Given the description of an element on the screen output the (x, y) to click on. 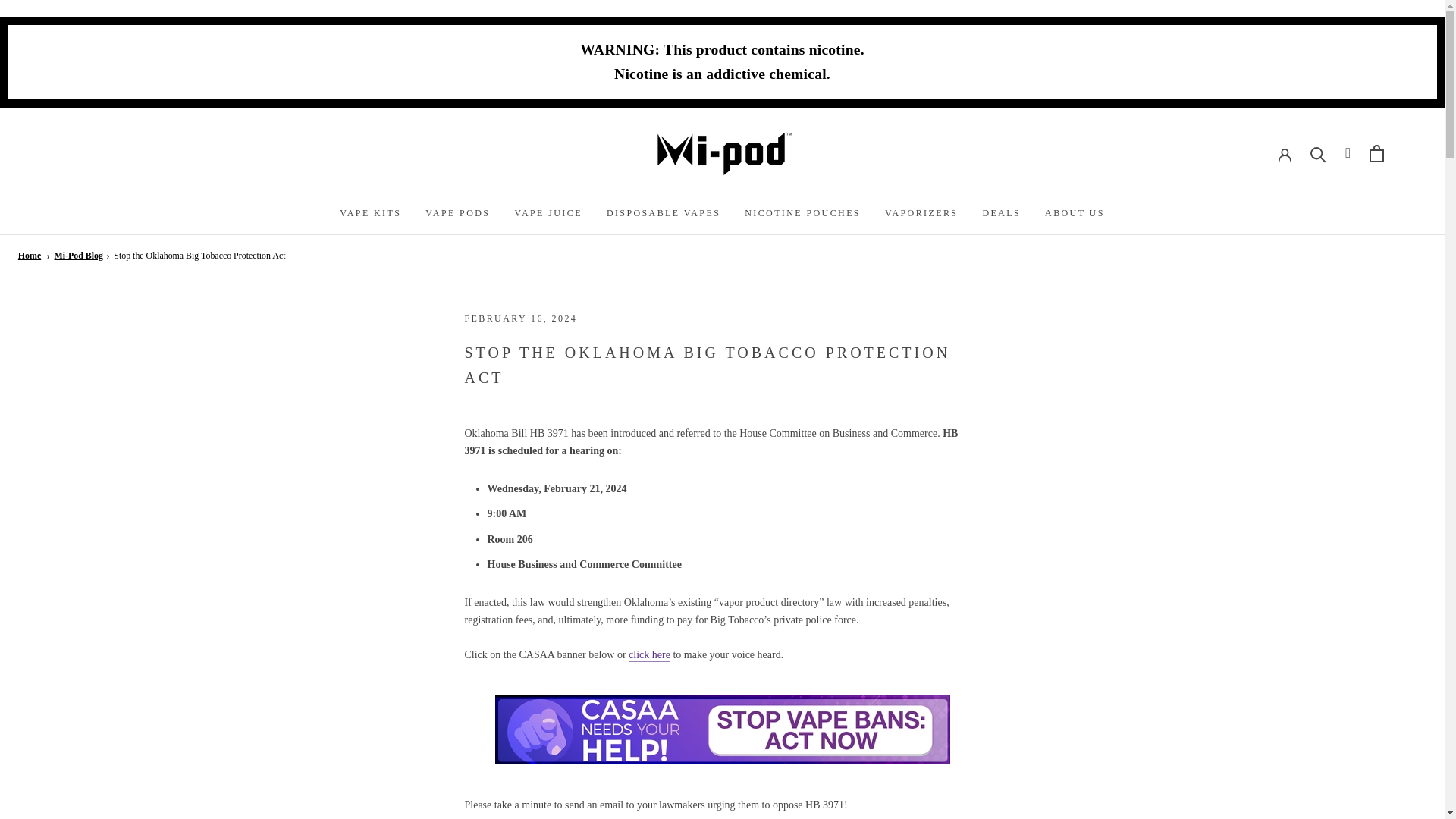
CASAA Stop PMTA registry bill (648, 654)
Home (28, 255)
Opens a widget where you can chat to one of our agents (57, 792)
